Given the description of an element on the screen output the (x, y) to click on. 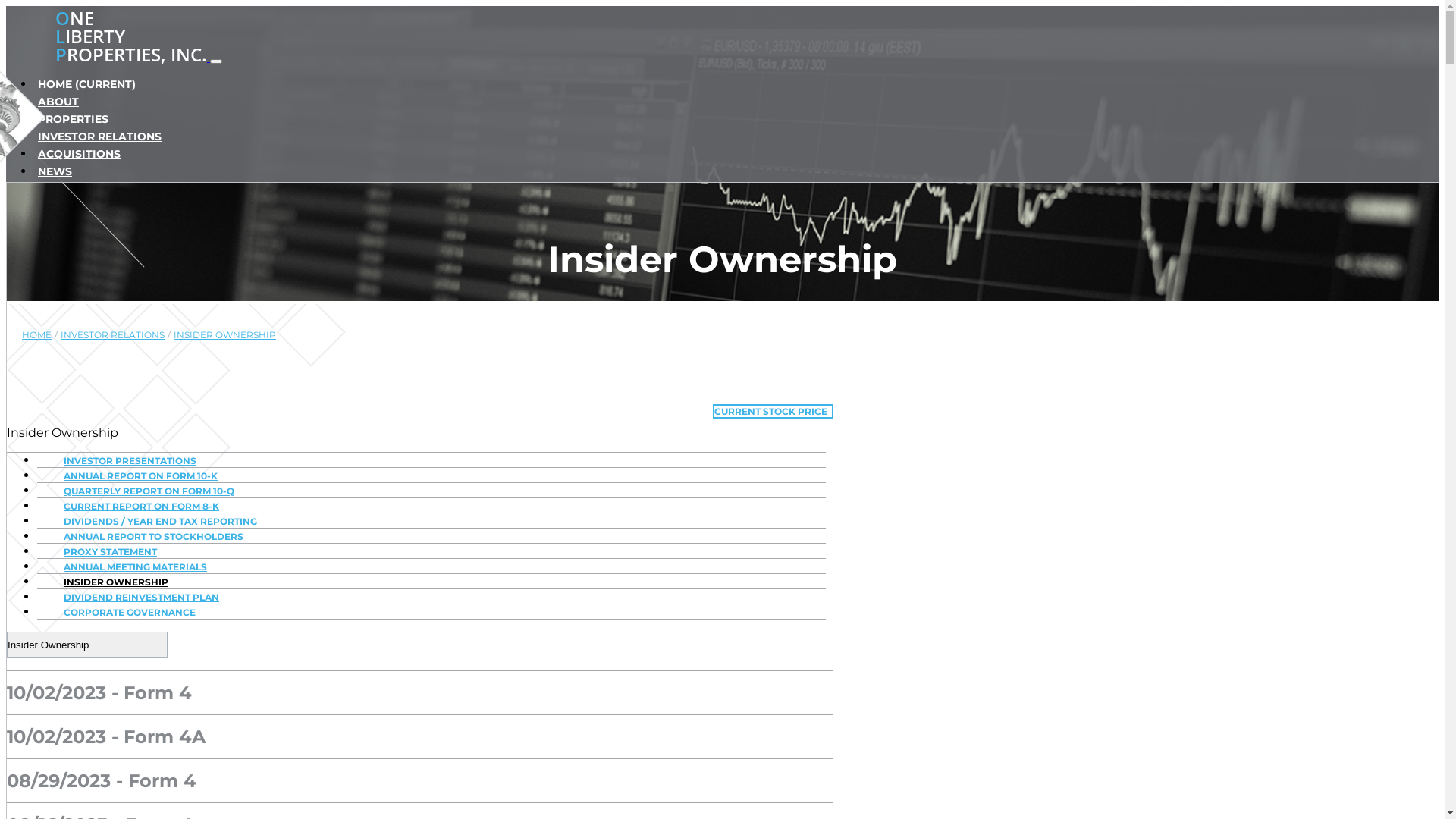
INSIDER OWNERSHIP Element type: text (108, 581)
HOME (CURRENT) Element type: text (434, 85)
08/29/2023 - Form 4 Element type: text (101, 780)
10/02/2023 - Form 4A Element type: text (105, 736)
CURRENT STOCK PRICE Element type: text (772, 411)
INVESTOR PRESENTATIONS Element type: text (122, 460)
QUARTERLY REPORT ON FORM 10-Q Element type: text (141, 490)
ANNUAL MEETING MATERIALS Element type: text (127, 566)
ABOUT Element type: text (434, 102)
ANNUAL REPORT TO STOCKHOLDERS Element type: text (145, 536)
INSIDER OWNERSHIP Element type: text (224, 334)
DIVIDEND REINVESTMENT PLAN Element type: text (133, 597)
NEWS Element type: text (434, 172)
CORPORATE GOVERNANCE Element type: text (122, 612)
ONE
LIBERTY
PROPERTIES, INC. Element type: text (108, 57)
CURRENT REPORT ON FORM 8-K Element type: text (133, 506)
INVESTOR RELATIONS Element type: text (112, 334)
PROXY STATEMENT Element type: text (102, 551)
10/02/2023 - Form 4 Element type: text (98, 692)
ANNUAL REPORT ON FORM 10-K Element type: text (133, 475)
PROPERTIES Element type: text (434, 120)
DIVIDENDS / YEAR END TAX REPORTING Element type: text (152, 521)
INVESTOR RELATIONS Element type: text (434, 137)
ACQUISITIONS Element type: text (434, 155)
HOME Element type: text (36, 334)
